Given the description of an element on the screen output the (x, y) to click on. 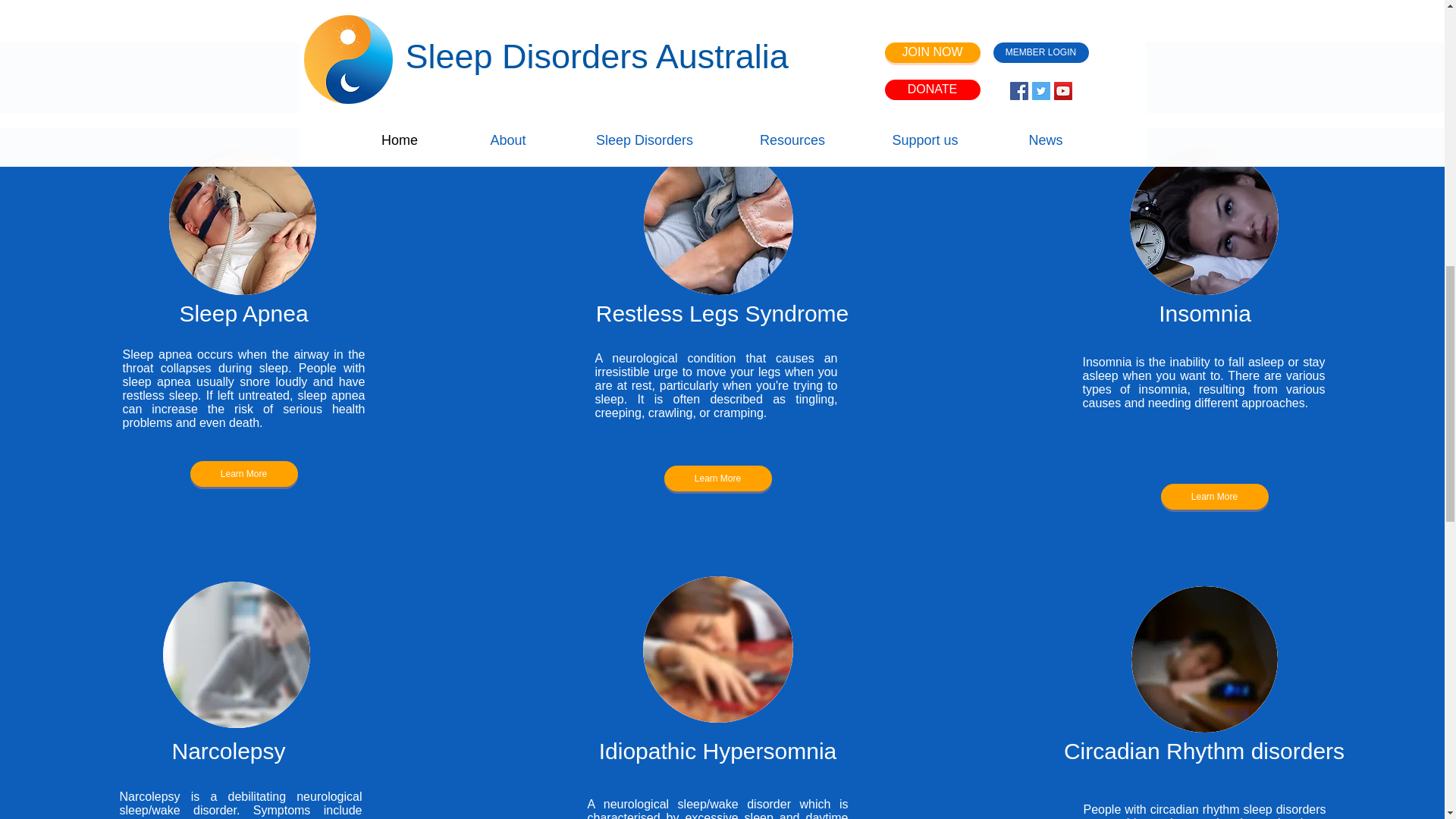
Learn More (1214, 496)
Learn More (243, 473)
Learn More (717, 478)
